Given the description of an element on the screen output the (x, y) to click on. 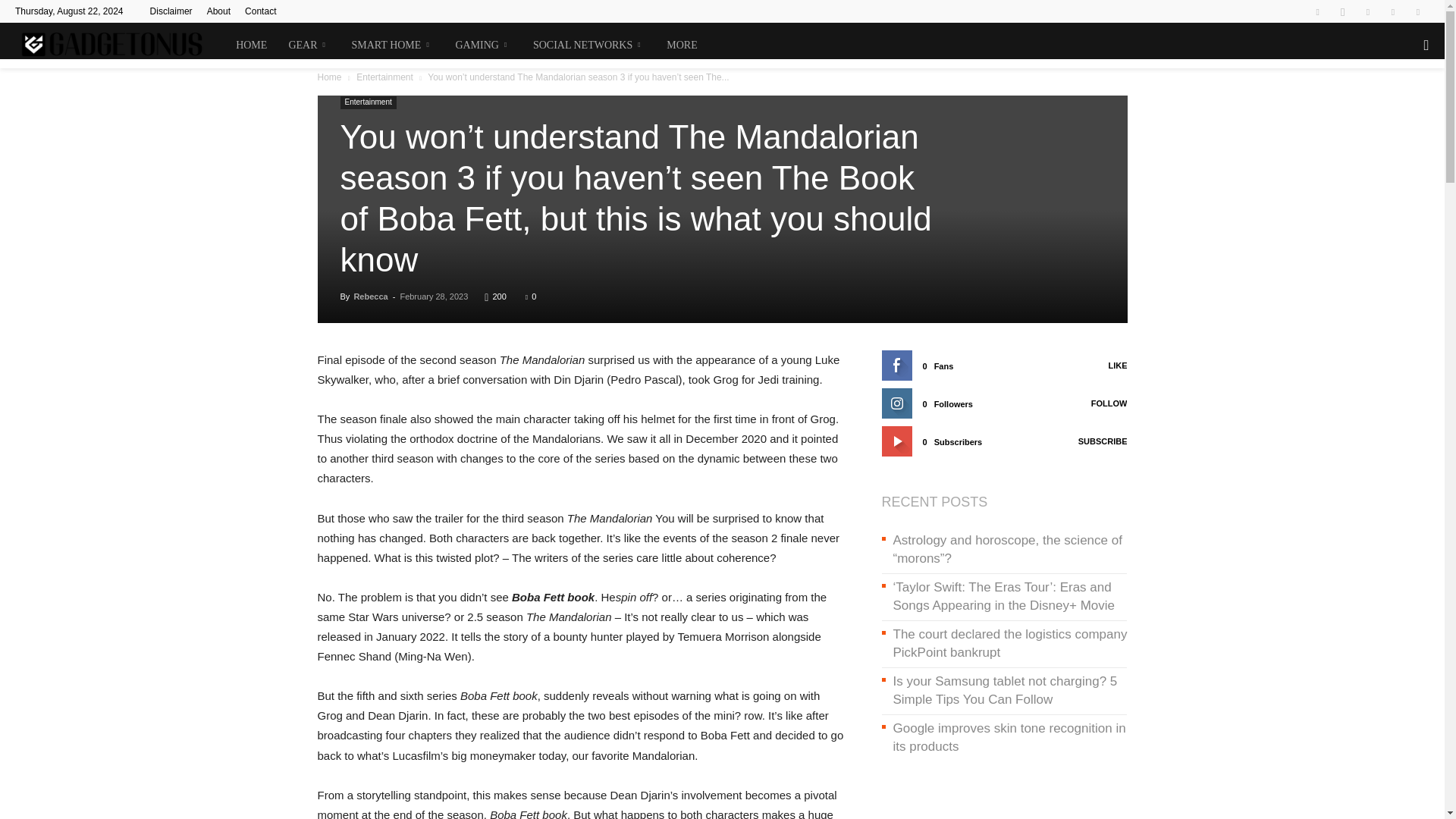
Instagram (1343, 11)
Vimeo (1393, 11)
Contact (260, 10)
HOME (251, 44)
Twitter (1367, 11)
Disclaimer (170, 10)
Facebook (1317, 11)
Gadgetonus (119, 45)
Youtube (1417, 11)
GEAR (309, 44)
